Given the description of an element on the screen output the (x, y) to click on. 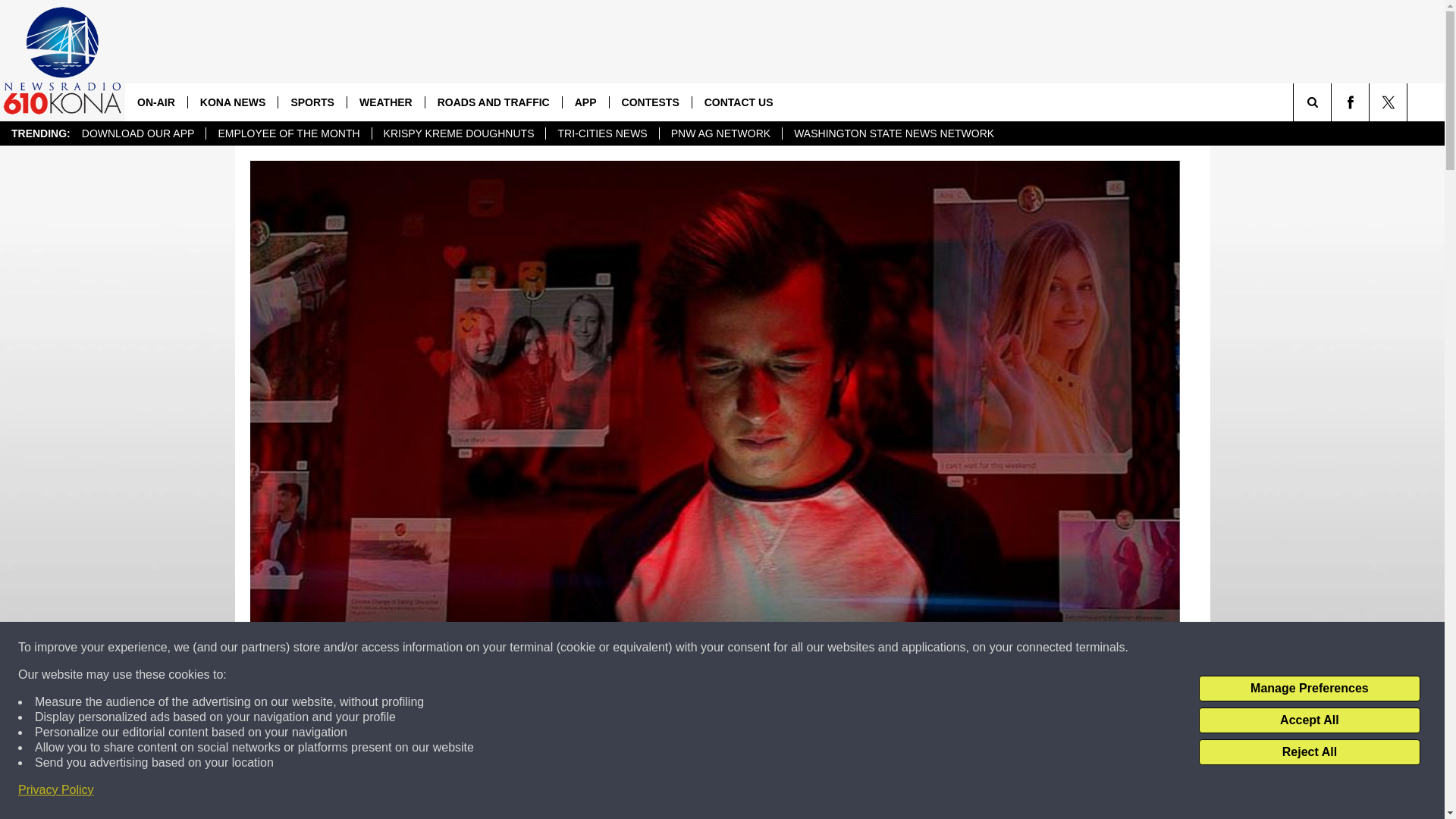
APP (585, 102)
SPORTS (312, 102)
WASHINGTON STATE NEWS NETWORK (893, 133)
Privacy Policy (55, 789)
KONA NEWS (232, 102)
EMPLOYEE OF THE MONTH (288, 133)
Share on Facebook (517, 791)
TRI-CITIES NEWS (601, 133)
WEATHER (385, 102)
Share on Twitter (912, 791)
Accept All (1309, 720)
ON-AIR (156, 102)
PNW AG NETWORK (720, 133)
Manage Preferences (1309, 688)
KRISPY KREME DOUGHNUTS (458, 133)
